Given the description of an element on the screen output the (x, y) to click on. 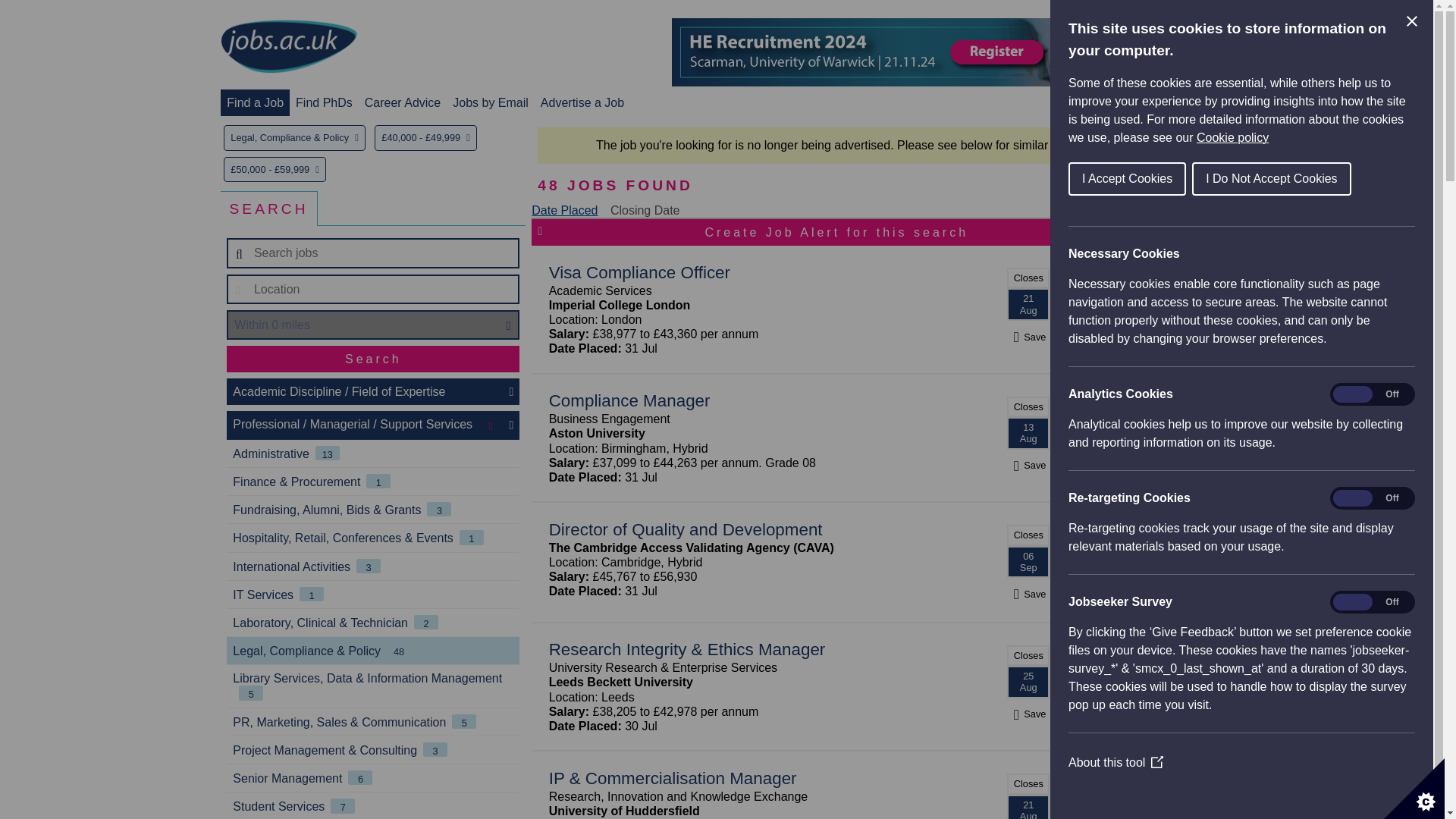
Save job (1027, 336)
jobs.ac.uk - Great jobs for bright people (288, 45)
Create Job Alert for this search (836, 232)
Date Placed (563, 210)
Save job (1027, 593)
home page (288, 47)
Jobs by Email (490, 102)
Create Job Alert for this search (836, 232)
Advertise a Job (582, 102)
Search (373, 358)
Save job (1027, 713)
Recruiters (1189, 102)
I Accept Cookies (1127, 178)
Save job (1027, 464)
distance (373, 325)
